Given the description of an element on the screen output the (x, y) to click on. 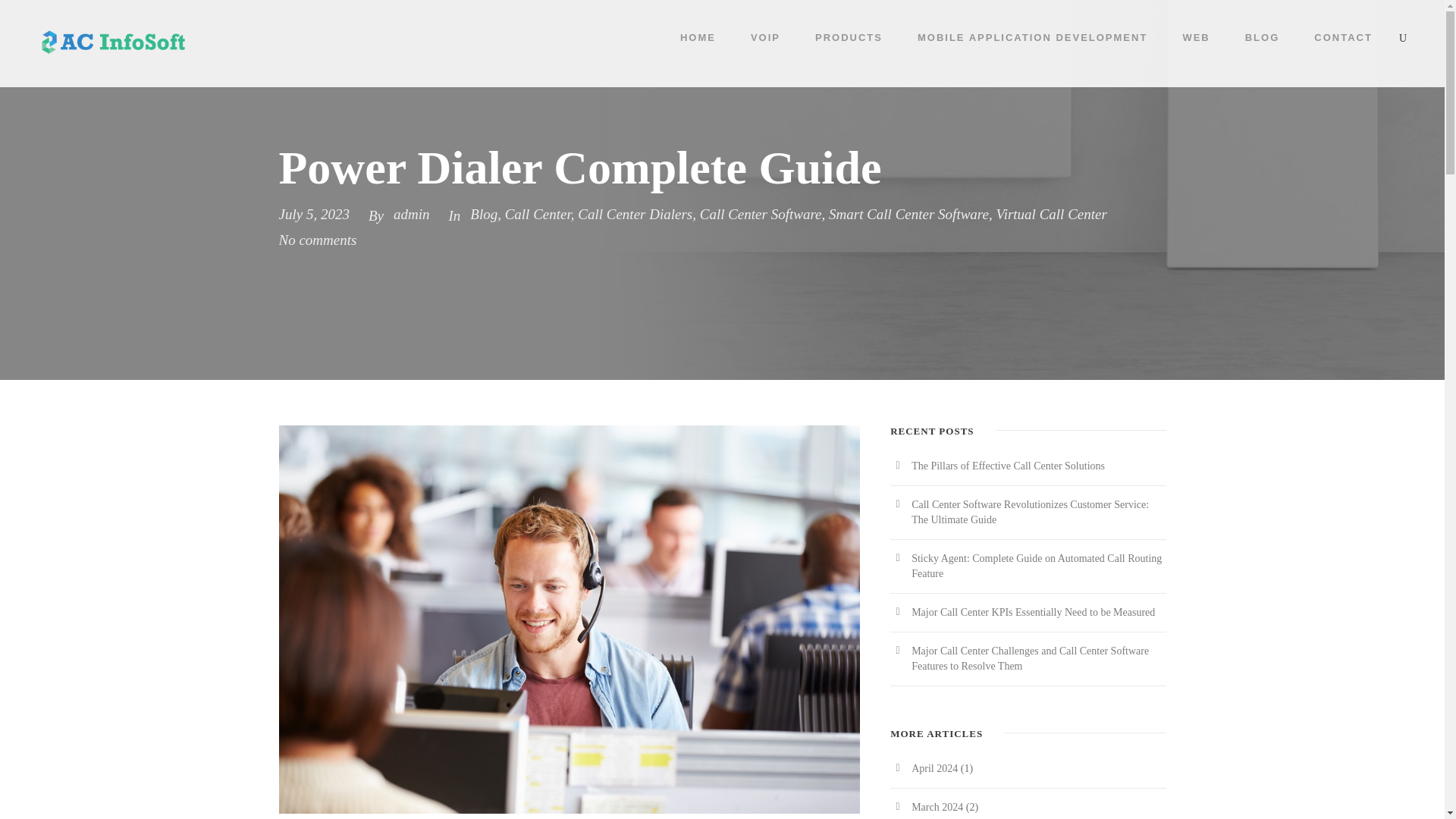
Posts by admin (411, 213)
AC Infosoft Logo Final (113, 42)
